Given the description of an element on the screen output the (x, y) to click on. 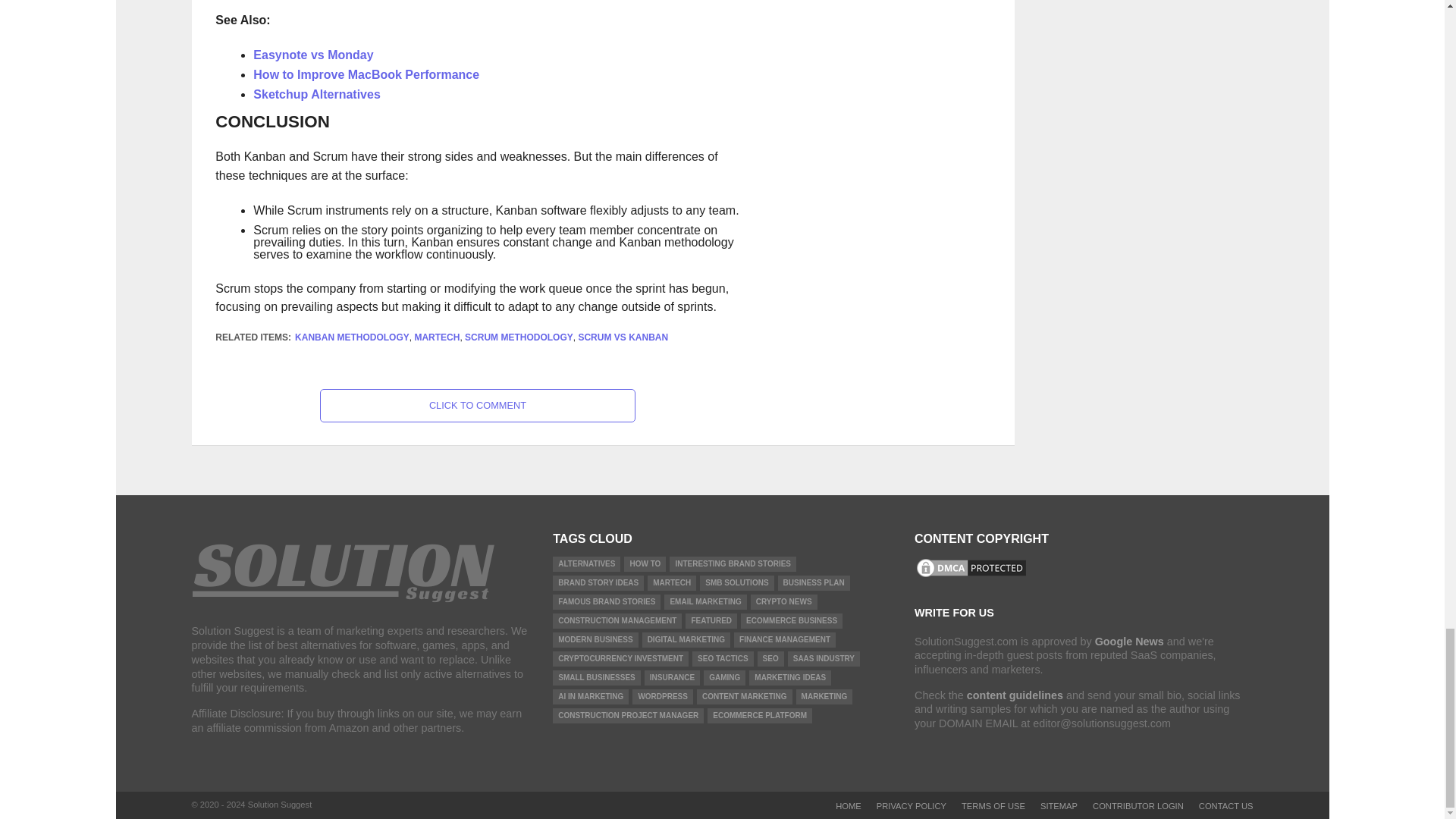
DMCA.com Protection Status (970, 575)
